Given the description of an element on the screen output the (x, y) to click on. 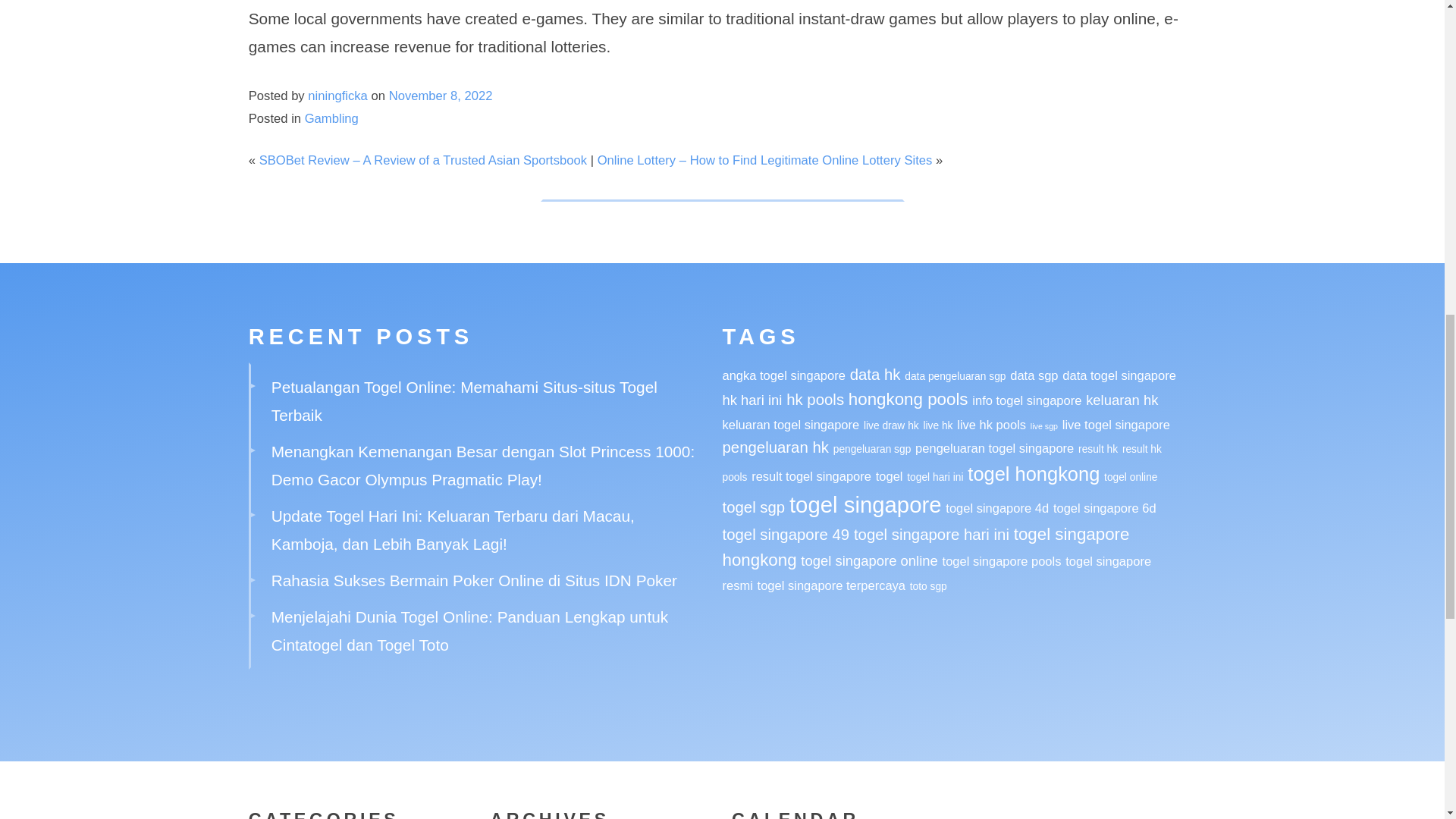
pengeluaran sgp (871, 449)
keluaran togel singapore (790, 424)
result hk pools (941, 463)
data sgp (1034, 375)
hk pools (815, 399)
data pengeluaran sgp (955, 376)
info togel singapore (1026, 400)
live togel singapore (1116, 424)
data togel singapore (1119, 375)
Gambling (331, 118)
